Given the description of an element on the screen output the (x, y) to click on. 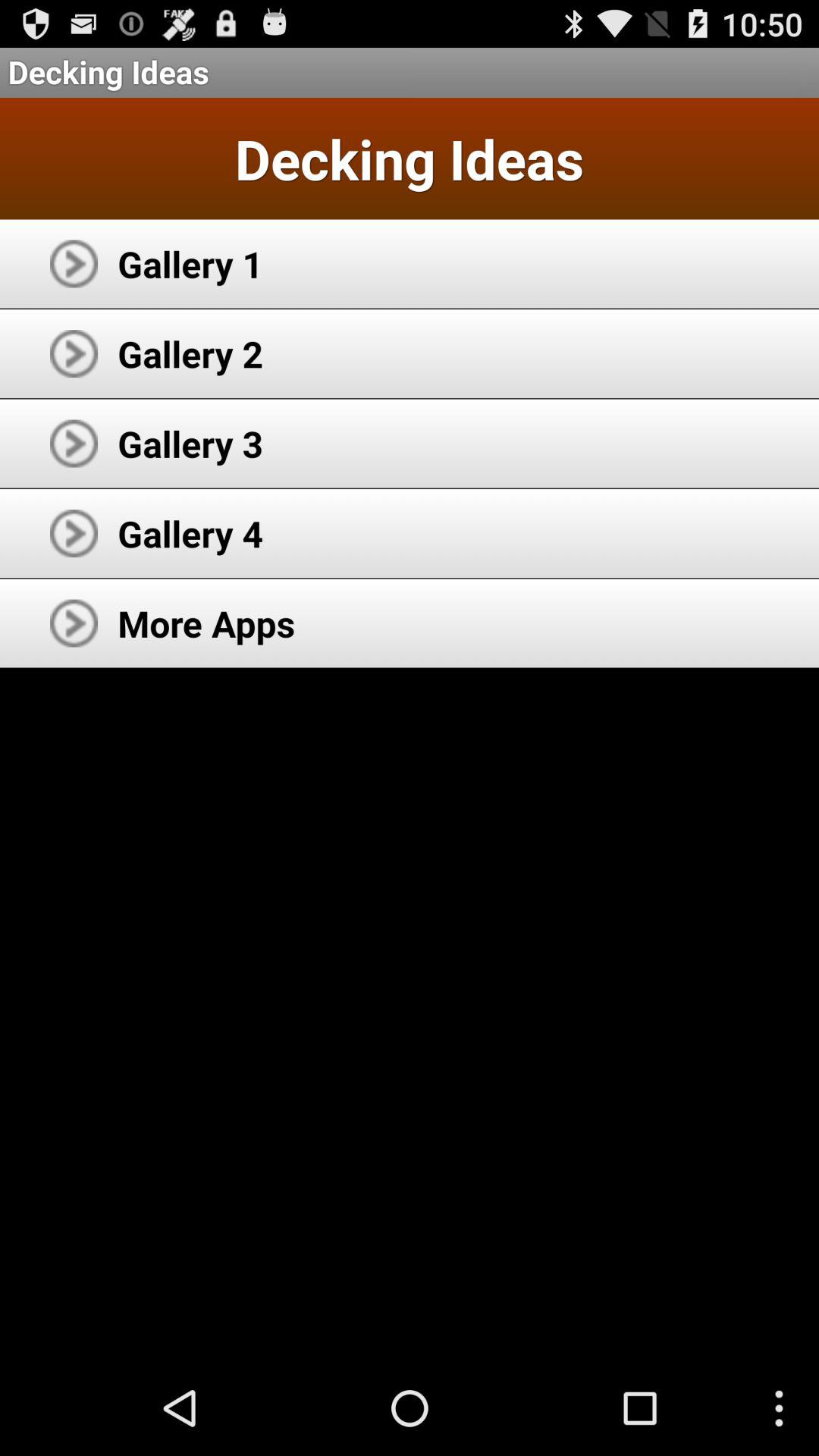
click the item above gallery 3 icon (190, 353)
